Given the description of an element on the screen output the (x, y) to click on. 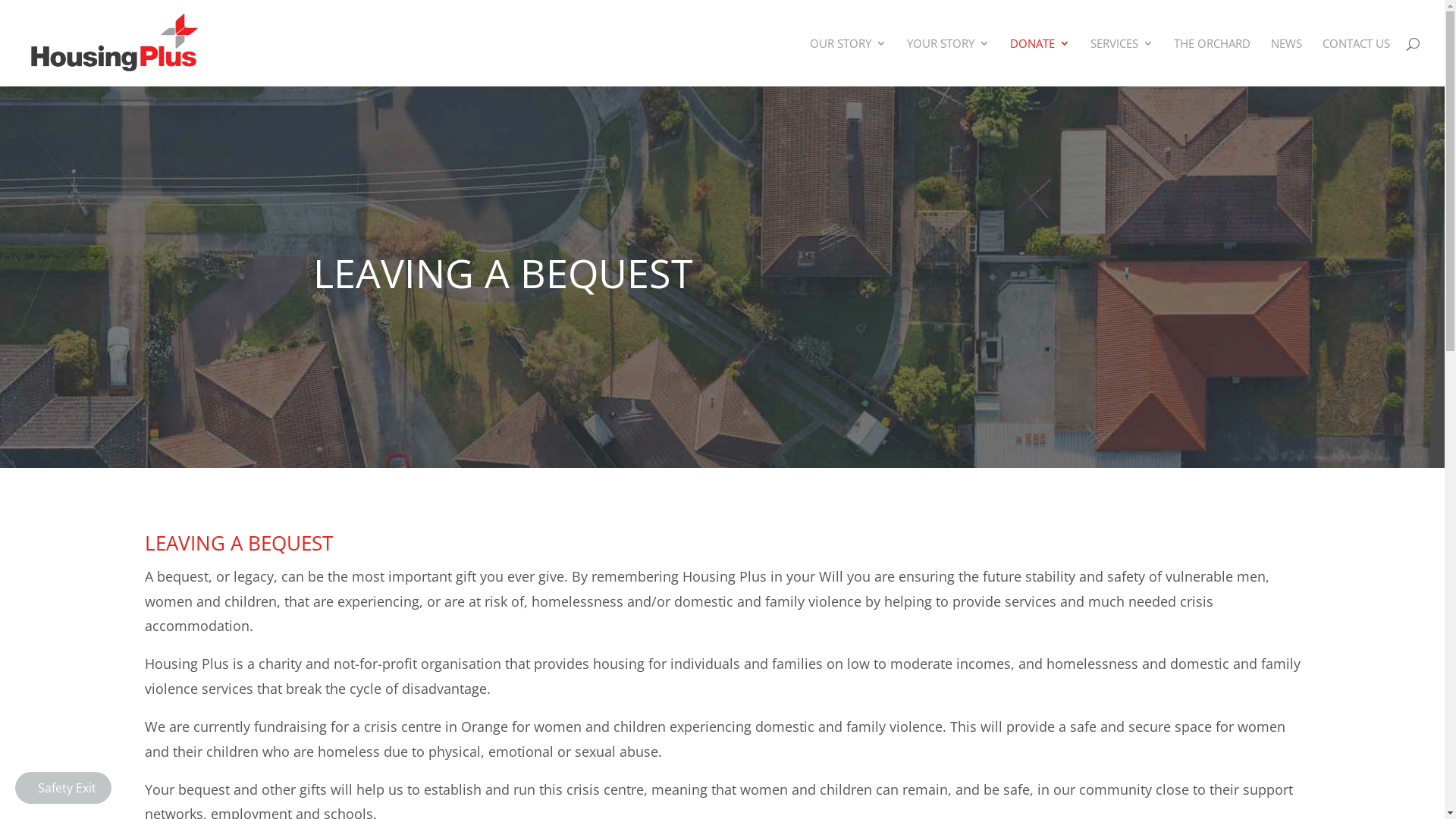
YOUR STORY Element type: text (947, 61)
Safety Exit Element type: text (63, 787)
OUR STORY Element type: text (847, 61)
NEWS Element type: text (1286, 61)
DONATE Element type: text (1040, 61)
SERVICES Element type: text (1121, 61)
THE ORCHARD Element type: text (1211, 61)
CONTACT US Element type: text (1356, 61)
